Given the description of an element on the screen output the (x, y) to click on. 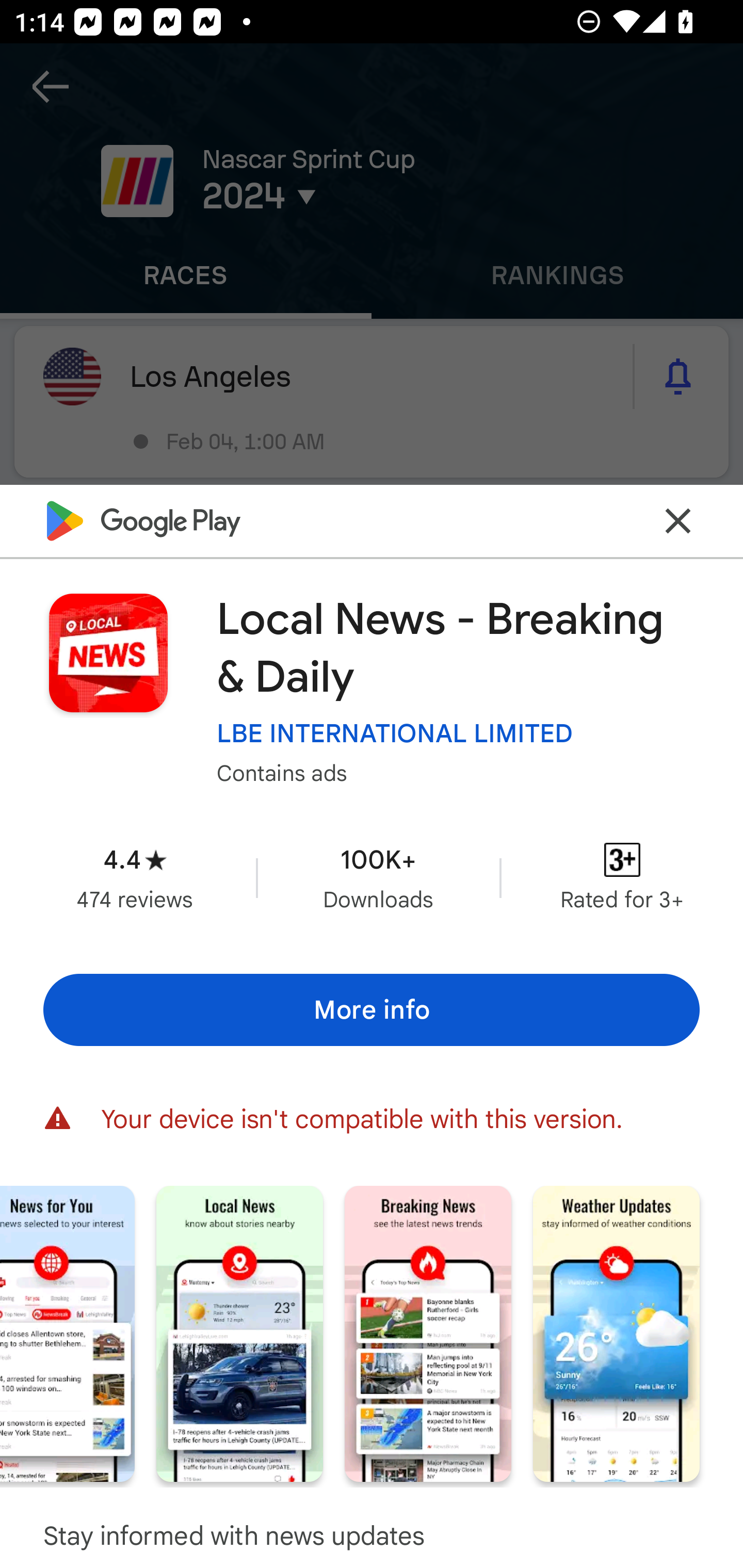
Close (677, 520)
LBE INTERNATIONAL LIMITED (394, 732)
More info (371, 1009)
Screenshot "1" of "4" (67, 1333)
Screenshot "2" of "4" (239, 1333)
Screenshot "3" of "4" (427, 1333)
Screenshot "4" of "4" (615, 1333)
